Given the description of an element on the screen output the (x, y) to click on. 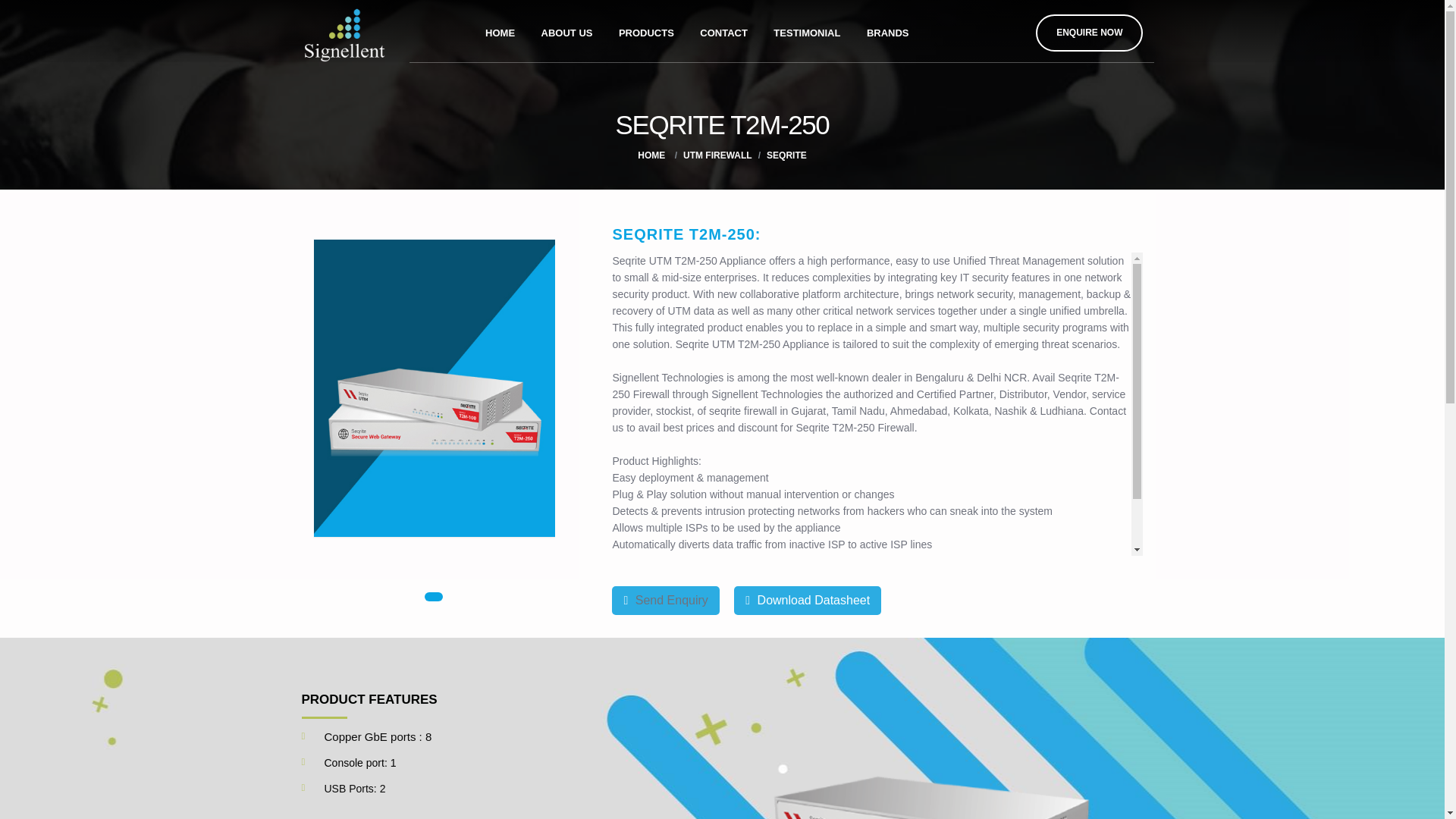
TESTIMONIAL (806, 30)
ENQUIRE NOW (1088, 32)
ABOUT US (566, 30)
HOME (499, 30)
HOME (651, 155)
CONTACT (723, 30)
PRODUCTS (646, 30)
SEQRITE (786, 155)
Send Enquiry (665, 600)
UTM FIREWALL (717, 155)
Download Datasheet (807, 600)
BRANDS (888, 30)
